Given the description of an element on the screen output the (x, y) to click on. 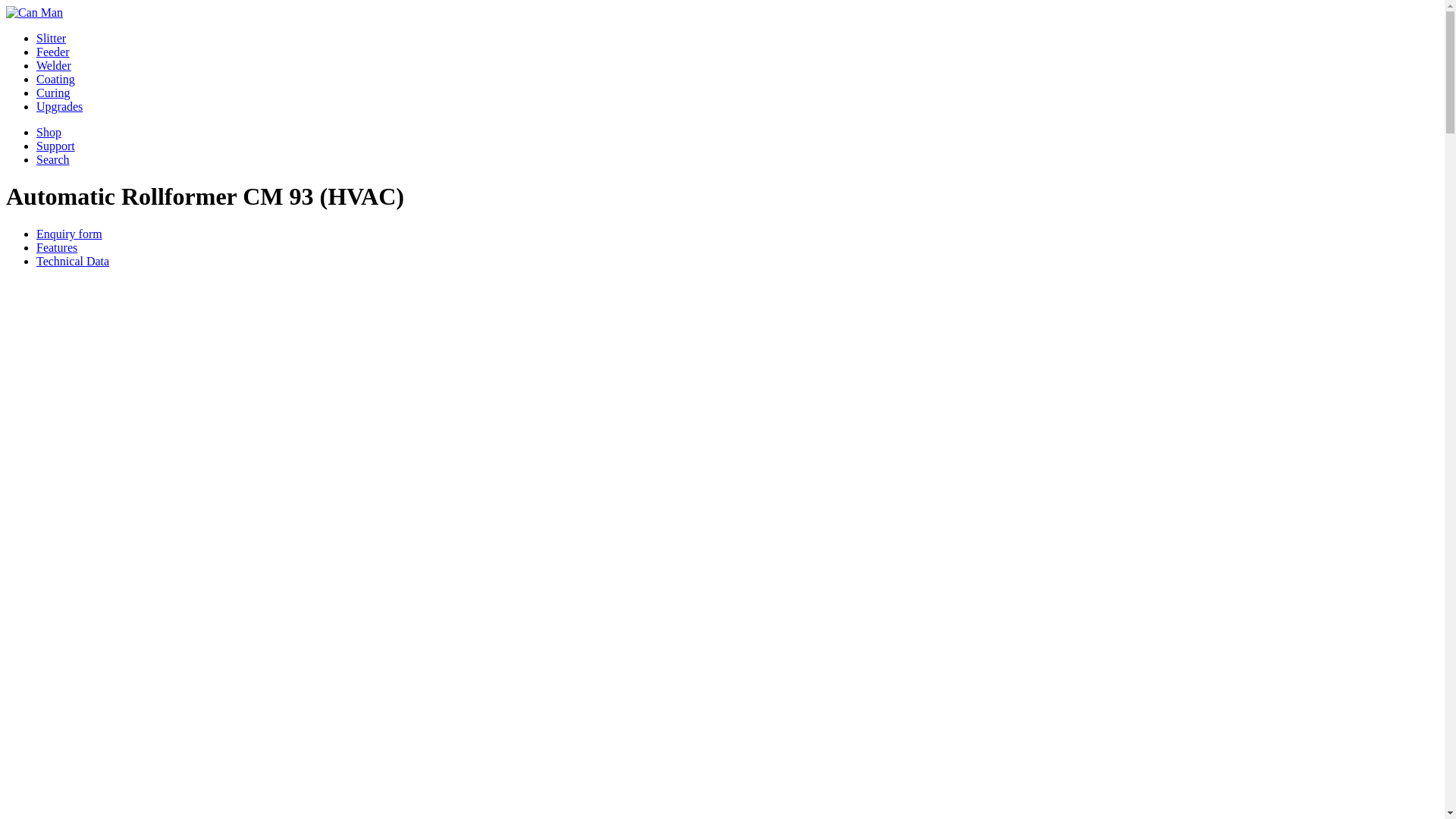
Slitter Element type: text (50, 37)
Curing Element type: text (52, 92)
Shop Element type: text (48, 131)
Enquiry form Element type: text (69, 233)
Upgrades Element type: text (59, 106)
Coating Element type: text (55, 78)
Features Element type: text (56, 247)
Technical Data Element type: text (72, 260)
Search Element type: text (52, 159)
Welder Element type: text (53, 65)
Feeder Element type: text (52, 51)
Support Element type: text (55, 145)
